Given the description of an element on the screen output the (x, y) to click on. 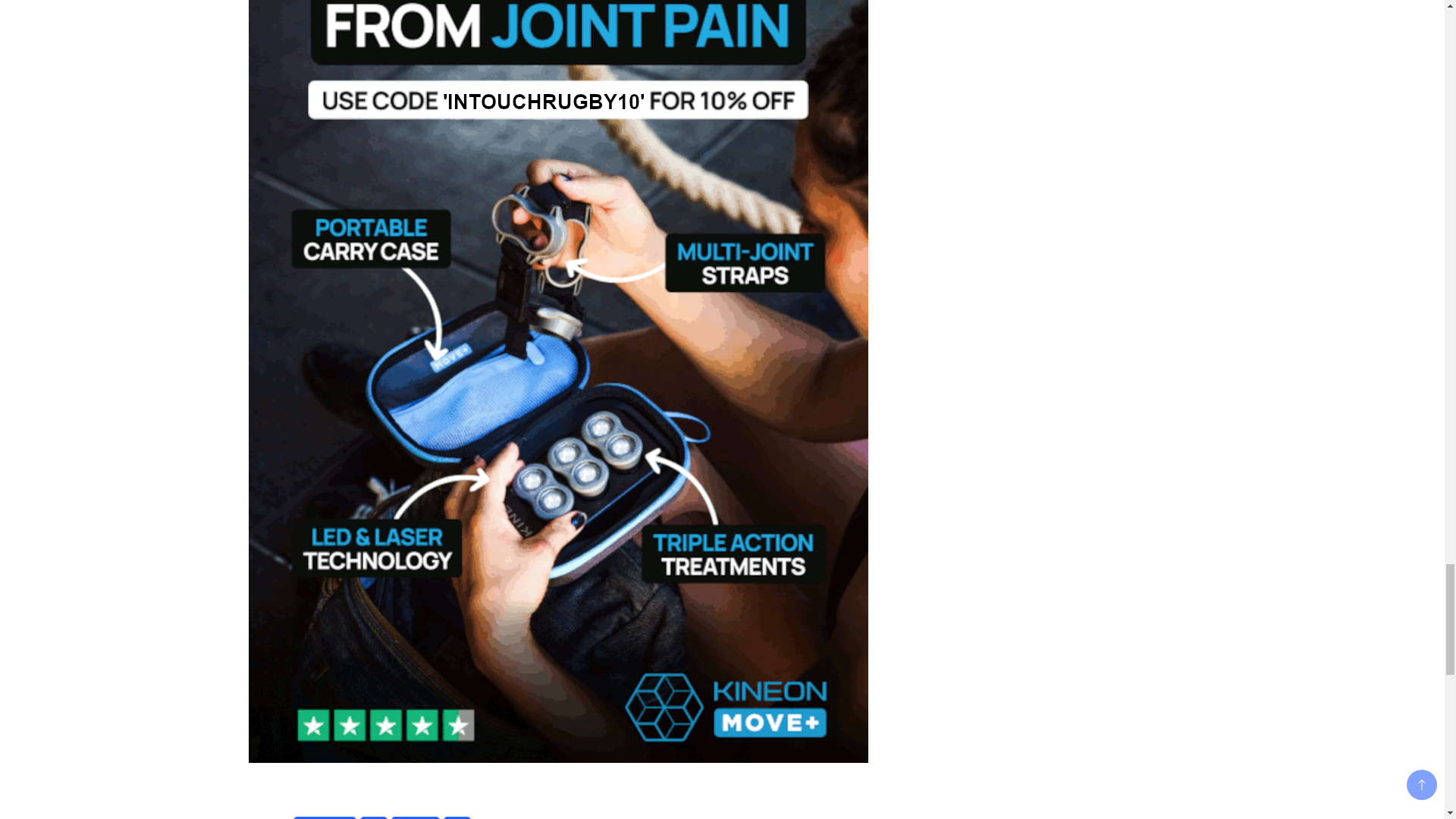
Randalstown (325, 817)
SEASON (415, 817)
RFC (373, 817)
